Given the description of an element on the screen output the (x, y) to click on. 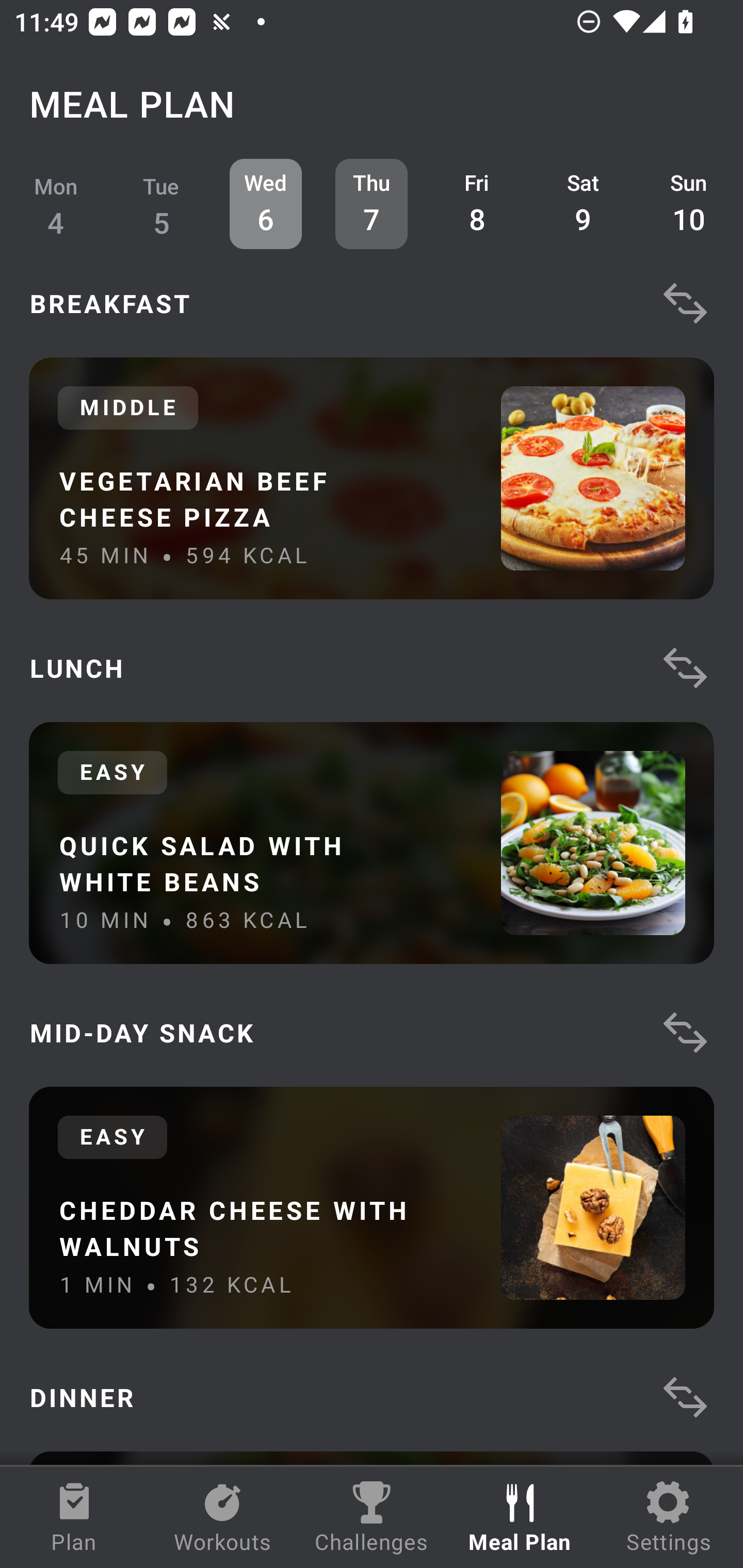
Wed 6 (265, 203)
Thu 7 (371, 203)
Fri 8 (477, 203)
Sat 9 (583, 203)
Sun 10 (689, 203)
EASY CHEDDAR CHEESE WITH WALNUTS 1 MIN • 132 KCAL (371, 1207)
 Plan  (74, 1517)
 Workouts  (222, 1517)
 Challenges  (371, 1517)
 Settings  (668, 1517)
